Given the description of an element on the screen output the (x, y) to click on. 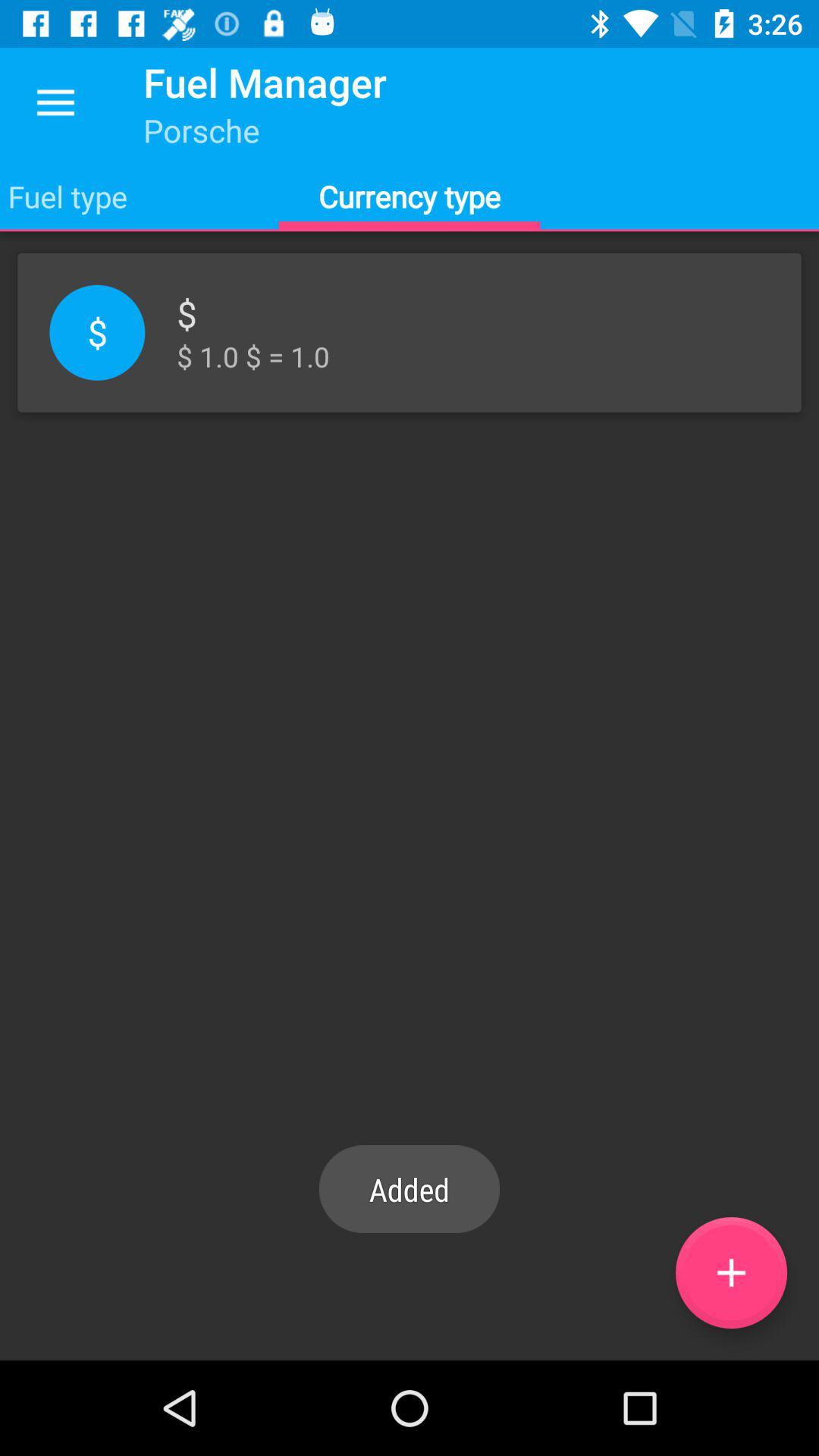
turn on the icon at the bottom right corner (731, 1272)
